Given the description of an element on the screen output the (x, y) to click on. 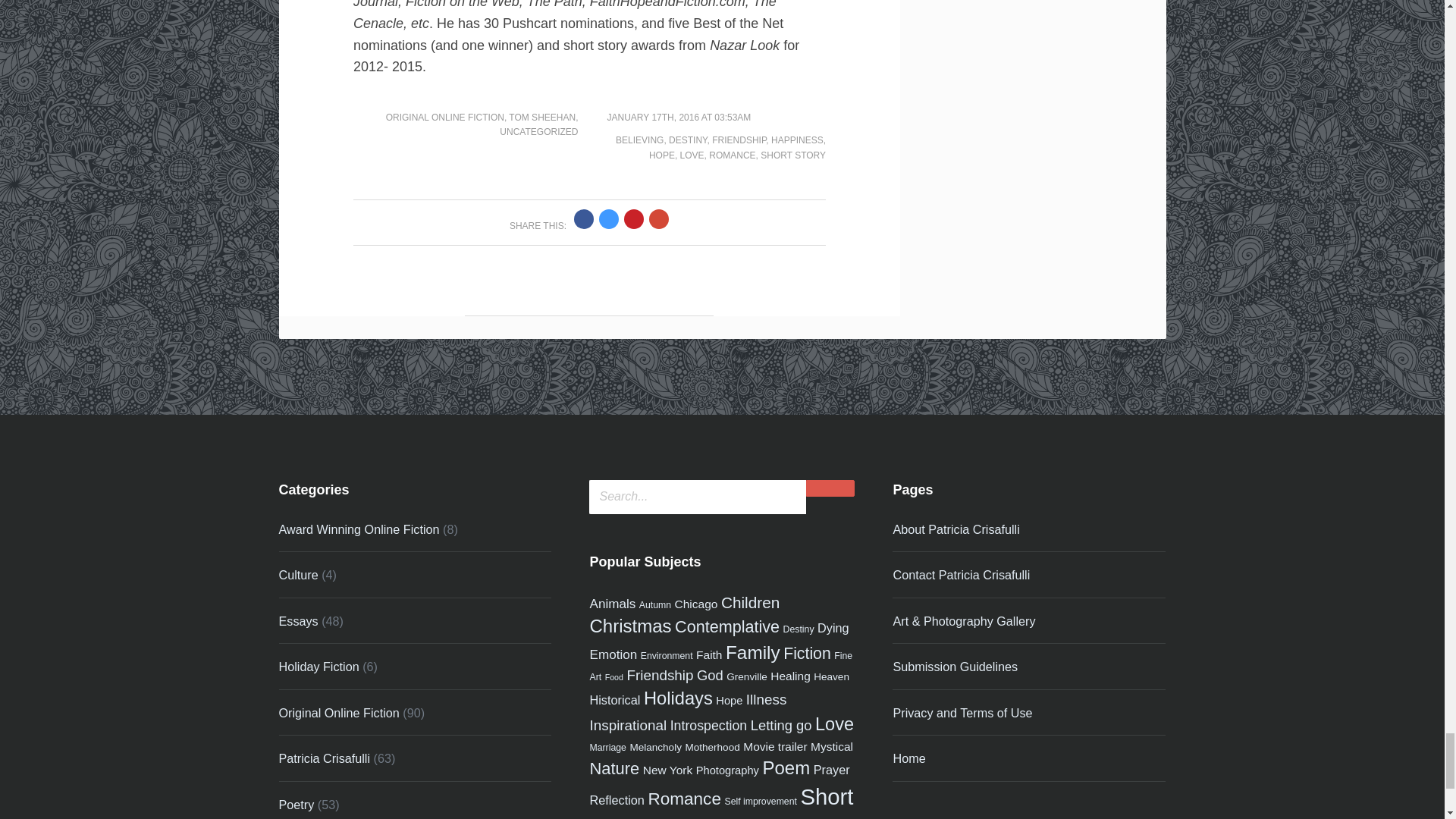
TOM SHEEHAN (541, 117)
DESTINY (687, 140)
Share this post on Facebook (583, 219)
UNCATEGORIZED (538, 131)
BELIEVING (639, 140)
FRIENDSHIP (738, 140)
HAPPINESS (797, 140)
ORIGINAL ONLINE FICTION (444, 117)
